Given the description of an element on the screen output the (x, y) to click on. 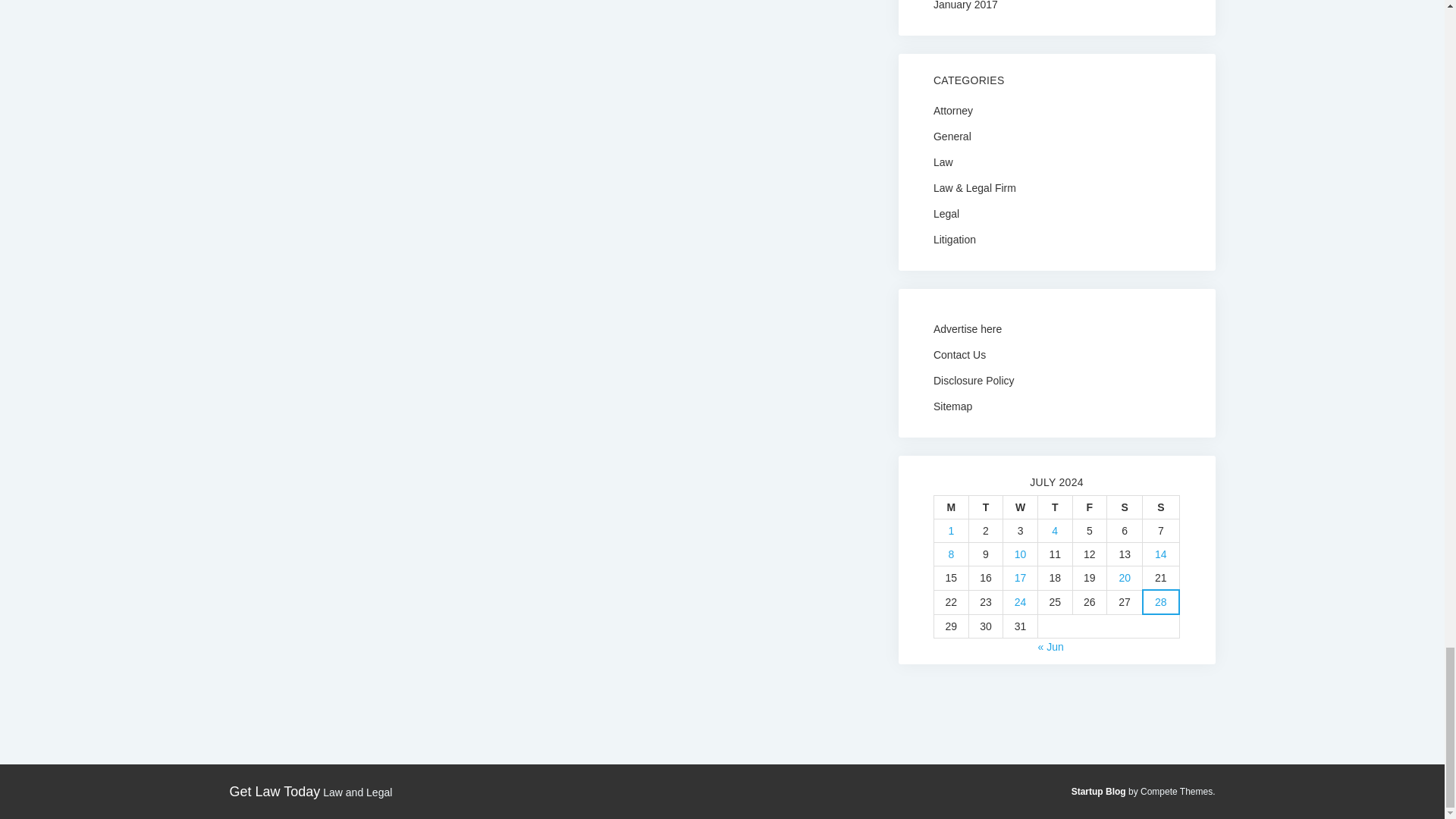
Thursday (1053, 506)
Monday (950, 506)
Wednesday (1020, 506)
Sunday (1160, 506)
Tuesday (985, 506)
Saturday (1124, 506)
Friday (1088, 506)
